Given the description of an element on the screen output the (x, y) to click on. 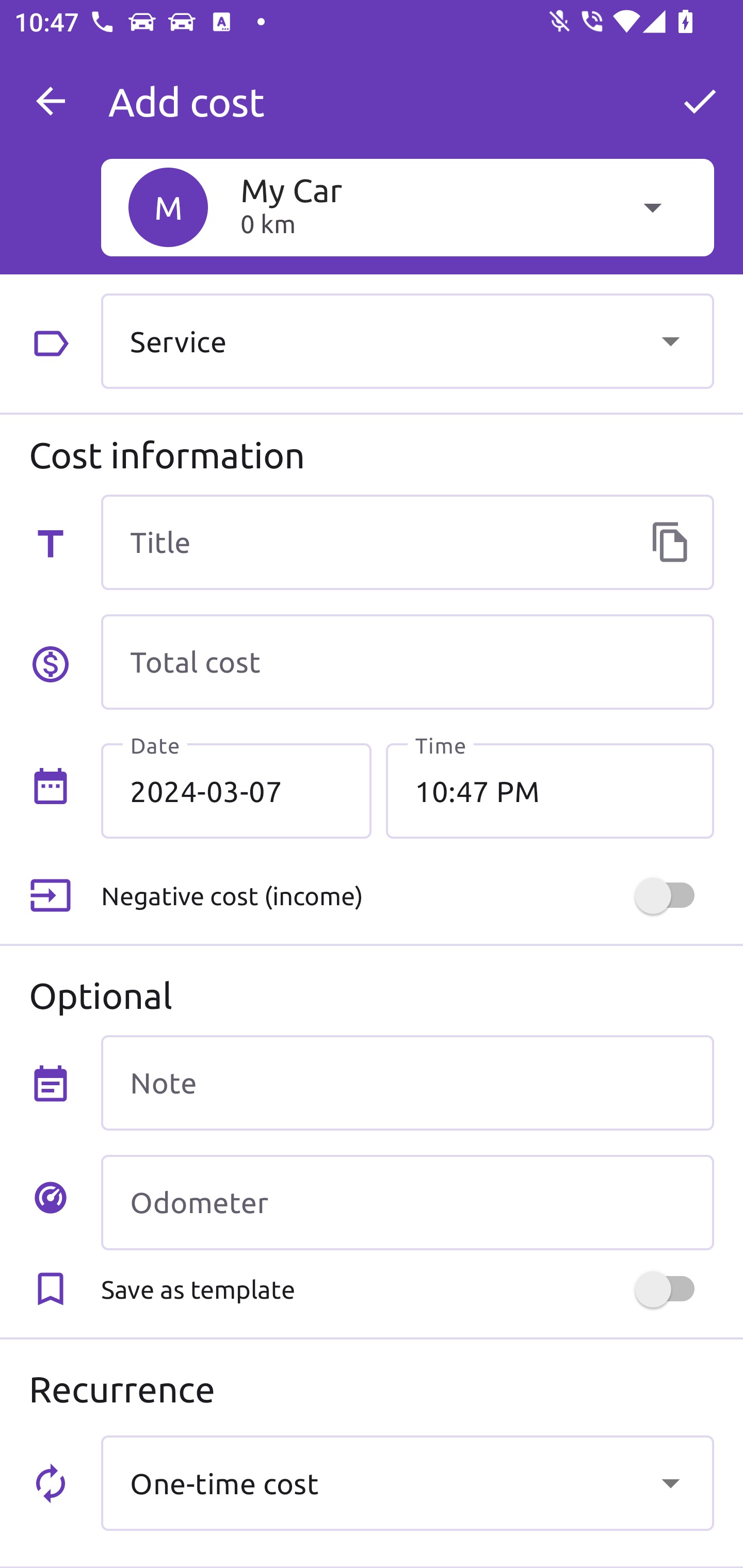
Navigate up (50, 101)
OK (699, 101)
M My Car 0 km (407, 206)
Service (407, 340)
Show dropdown menu (670, 340)
Title (407, 541)
Templates (670, 541)
Total cost  (407, 662)
2024-03-07 (236, 790)
10:47 PM (549, 790)
Negative cost (income) (407, 895)
Note (407, 1082)
Odometer (407, 1202)
Save as template (407, 1289)
One-time cost (407, 1482)
Show dropdown menu (670, 1482)
